Given the description of an element on the screen output the (x, y) to click on. 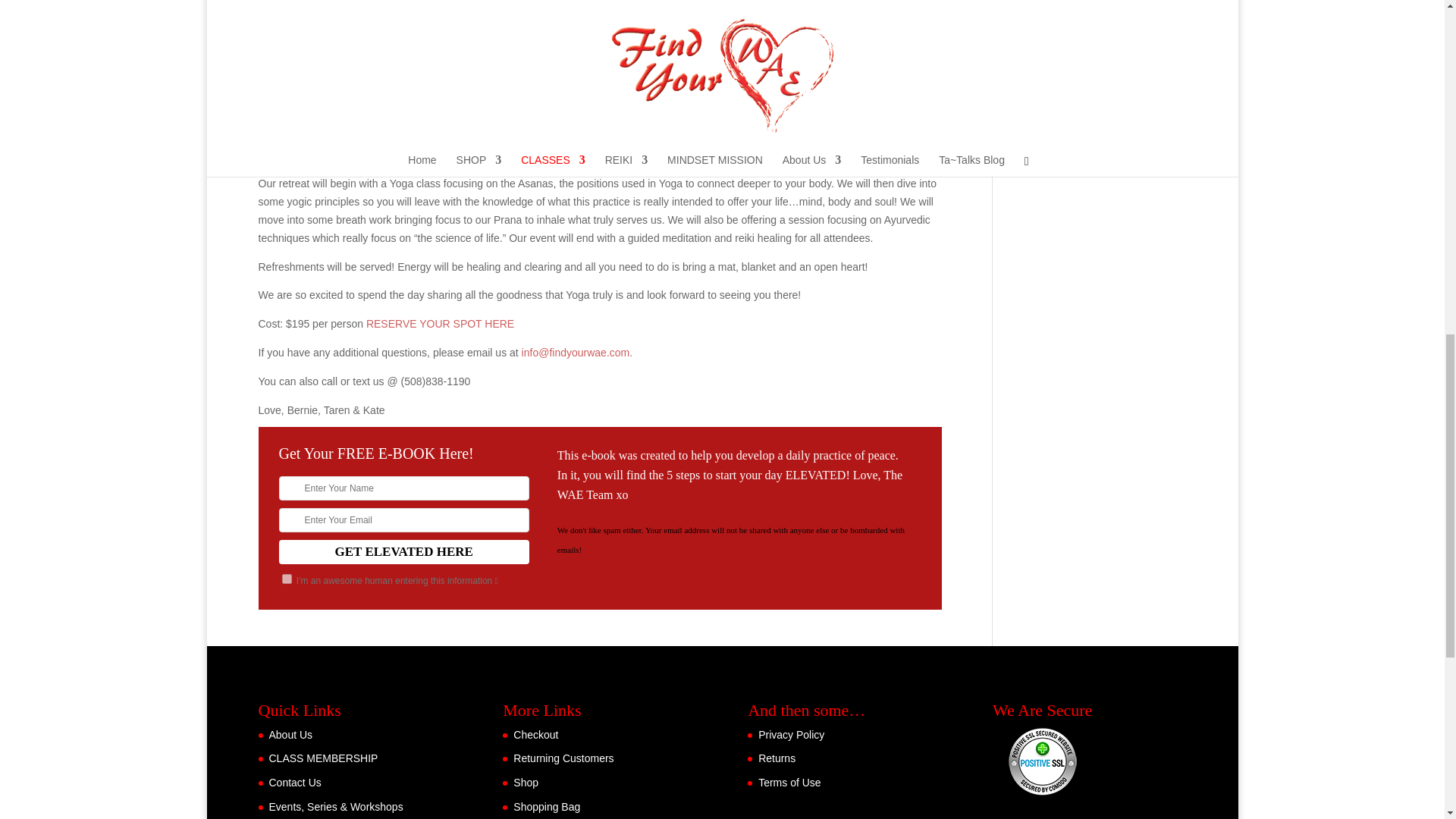
on (287, 578)
CLASS MEMBERSHIP (322, 758)
Comodo Positive SSL Security (1042, 761)
RESERVE YOUR SPOT HERE (439, 323)
About Us (290, 734)
Contact Us (293, 782)
GET ELEVATED HERE (404, 551)
GET ELEVATED HERE (404, 551)
